Given the description of an element on the screen output the (x, y) to click on. 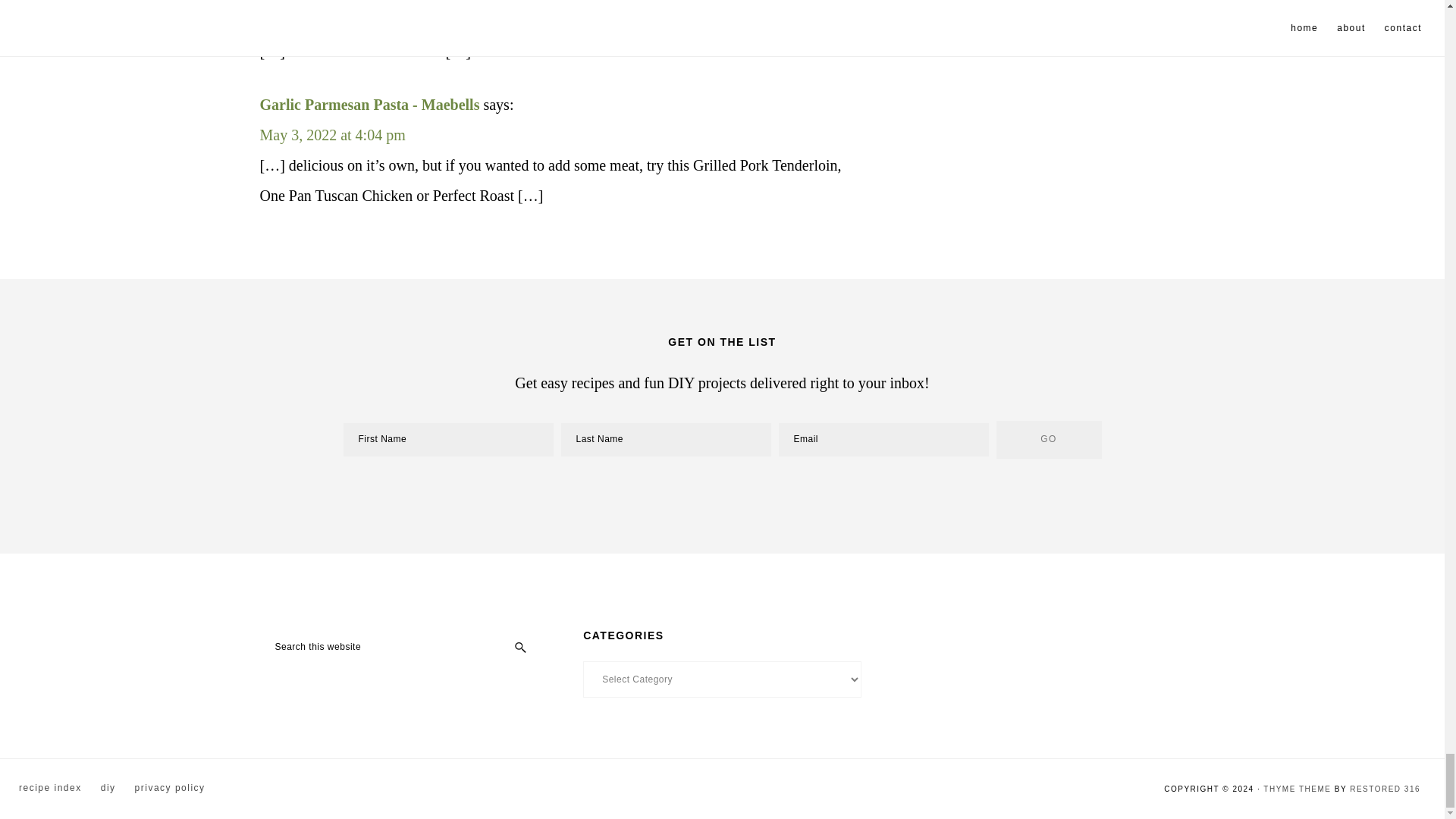
Go (1048, 439)
